Given the description of an element on the screen output the (x, y) to click on. 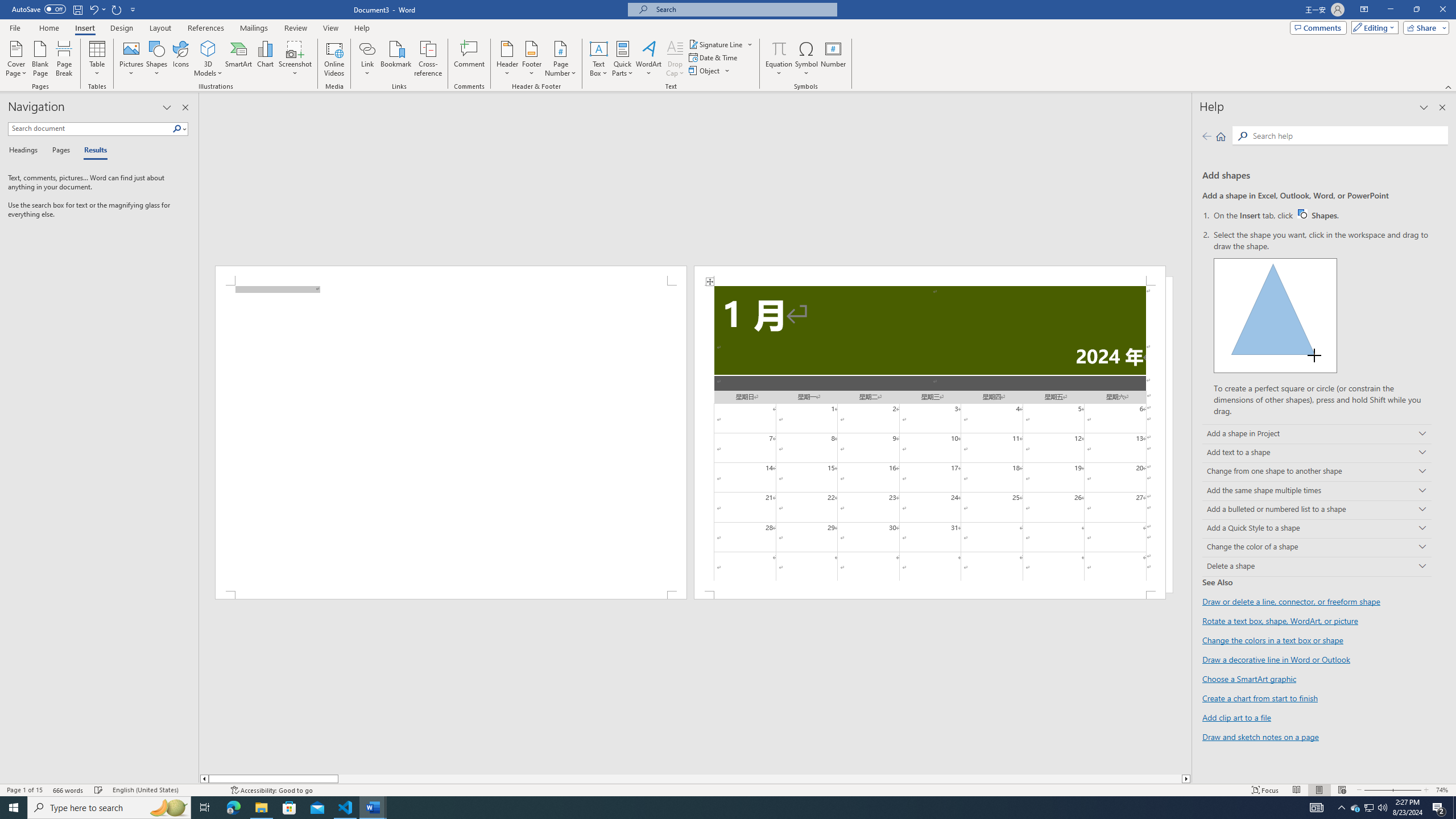
Word W32 Shapes button icon (1302, 213)
Draw and sketch notes on a page (1260, 736)
Chart... (265, 58)
Drop Cap (674, 58)
Save (77, 9)
Focus  (1265, 790)
References (205, 28)
Screenshot (295, 58)
Change the colors in a text box or shape (1272, 639)
3D Models (208, 58)
Column left (203, 778)
Search (177, 128)
SmartArt... (238, 58)
Shapes (156, 58)
Text Box (598, 58)
